Given the description of an element on the screen output the (x, y) to click on. 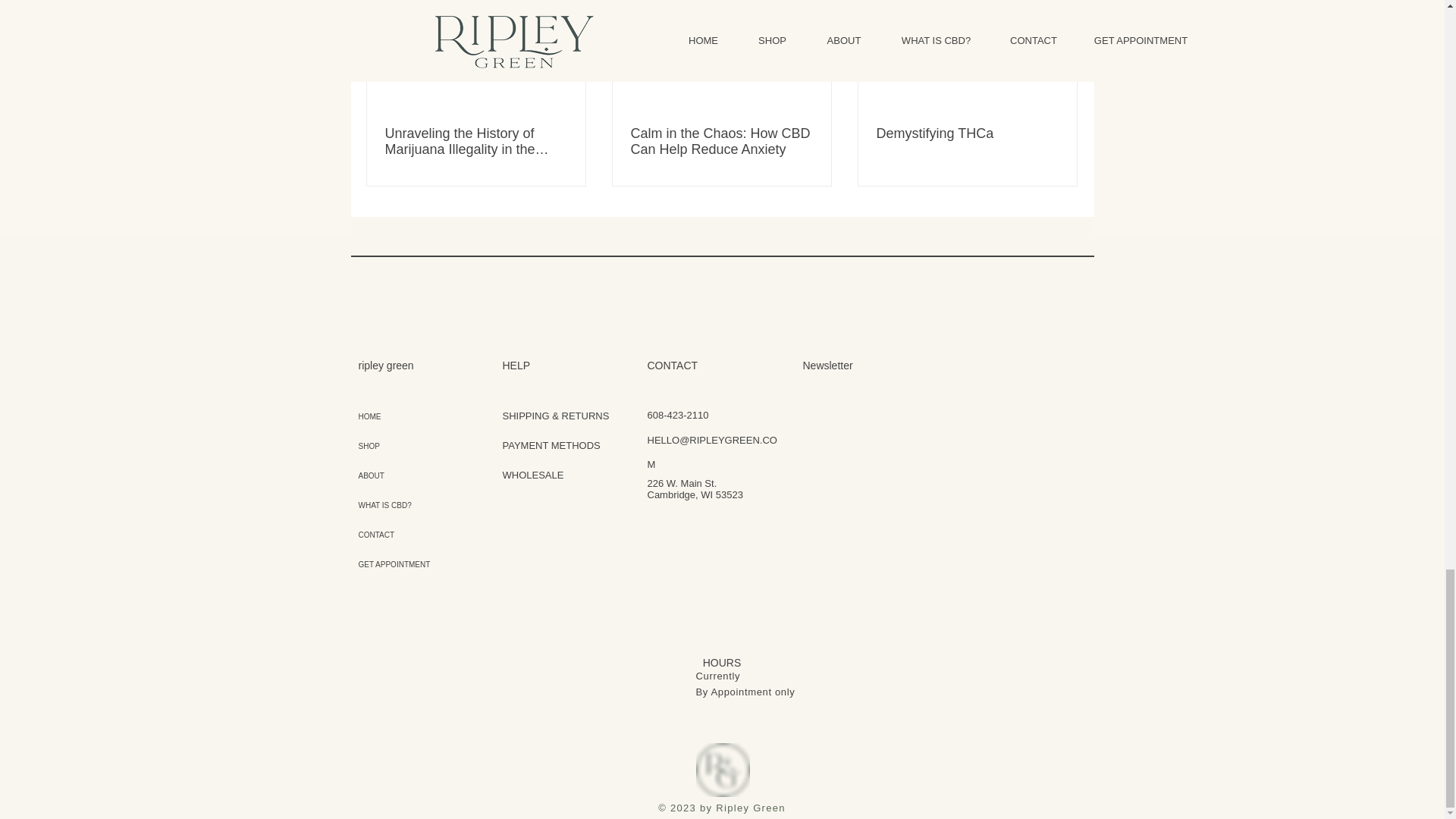
Demystifying THCa (967, 133)
CONTACT (399, 534)
226 W. Main St. (682, 482)
Cambridge, WI 53523 (694, 494)
Calm in the Chaos: How CBD Can Help Reduce Anxiety (721, 142)
Newsletter signup form (938, 496)
GET APPOINTMENT (399, 564)
WHAT IS CBD? (399, 505)
WHOLESALE (532, 474)
ABOUT (399, 475)
PAYMENT METHODS (550, 445)
HOME (399, 416)
SHOP (399, 446)
